Given the description of an element on the screen output the (x, y) to click on. 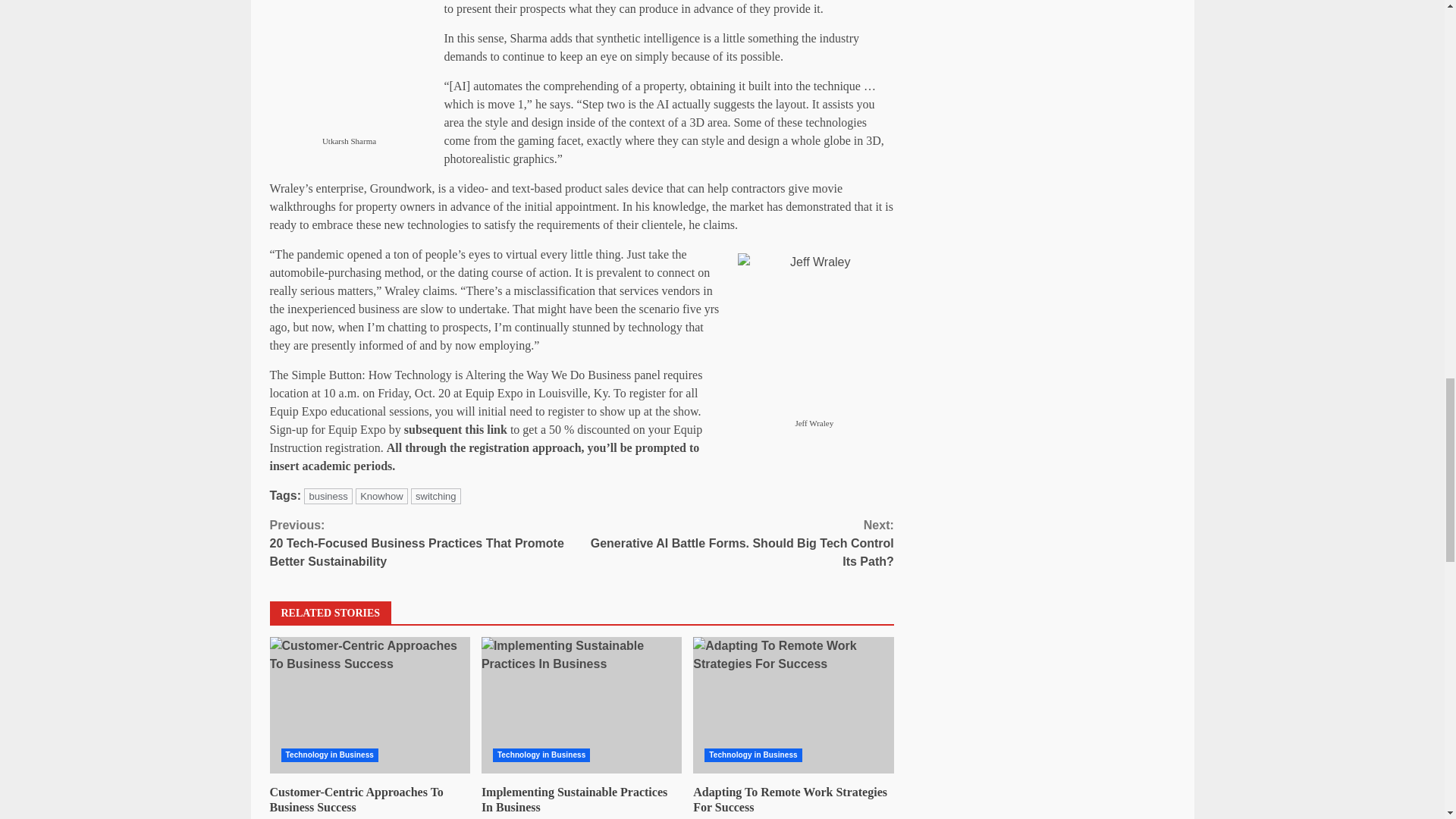
Implementing Sustainable Practices In Business (573, 799)
Adapting To Remote Work Strategies For Success (793, 705)
Adapting To Remote Work Strategies For Success (793, 705)
business (328, 496)
subsequent (432, 429)
Implementing Sustainable Practices In Business (581, 705)
Customer-Centric Approaches To Business Success (356, 799)
switching (435, 496)
